Given the description of an element on the screen output the (x, y) to click on. 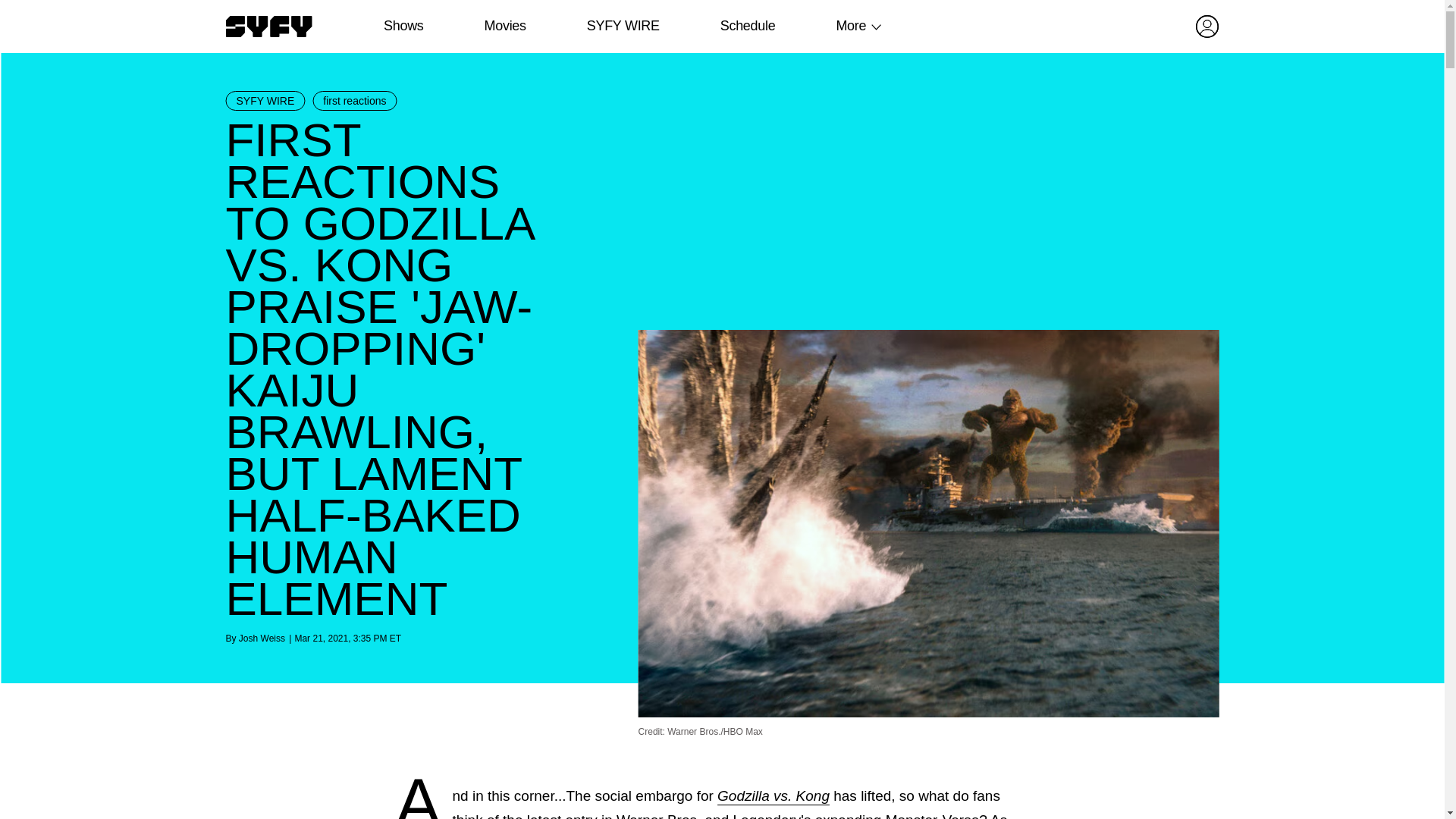
Josh Weiss (261, 638)
Shows (403, 26)
Movies (504, 26)
SYFY WIRE (622, 26)
first reactions (354, 100)
SYFY WIRE (265, 100)
More (850, 26)
Schedule (746, 26)
Godzilla vs. Kong (773, 795)
